Given the description of an element on the screen output the (x, y) to click on. 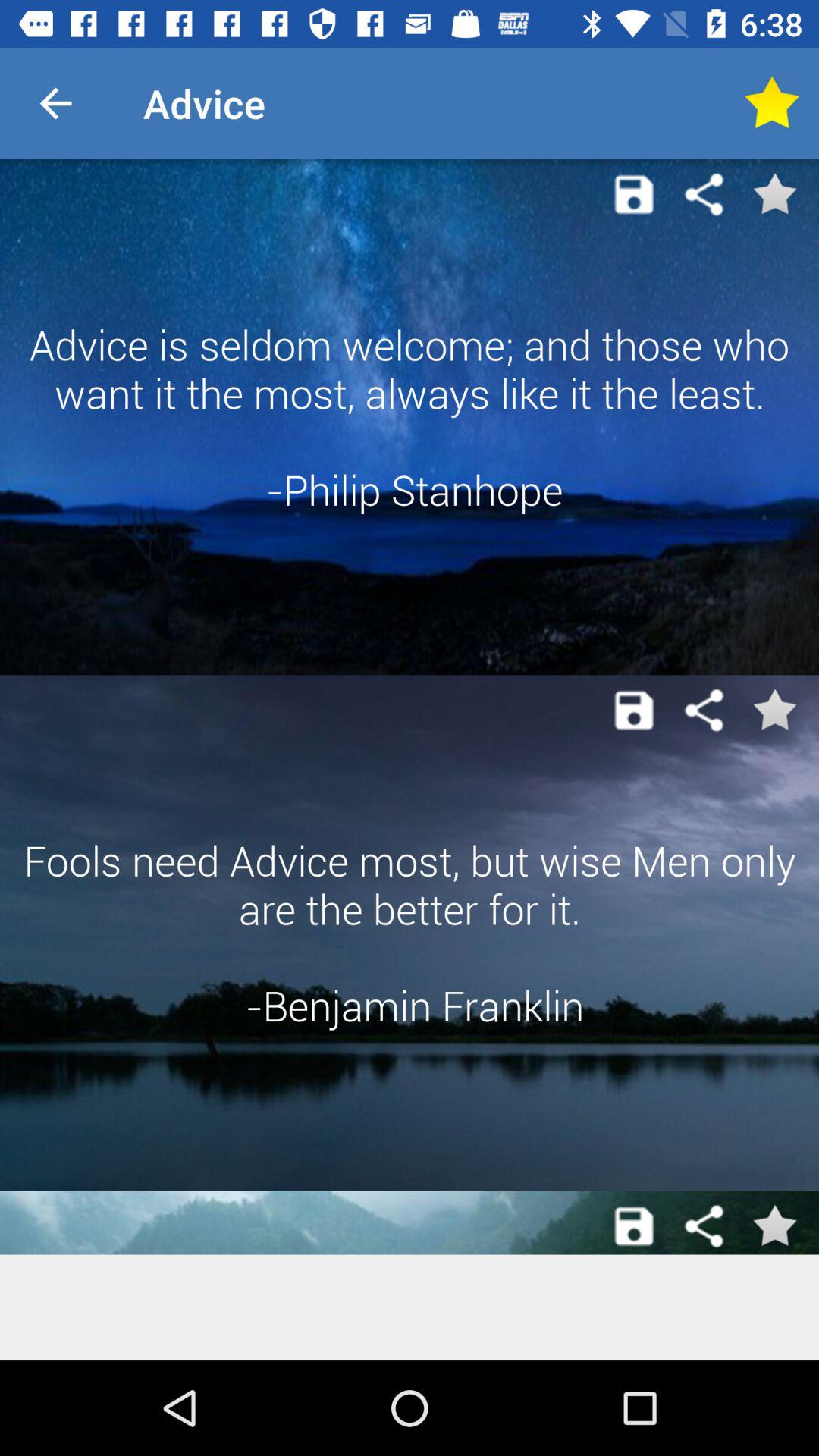
save button (634, 1226)
